Given the description of an element on the screen output the (x, y) to click on. 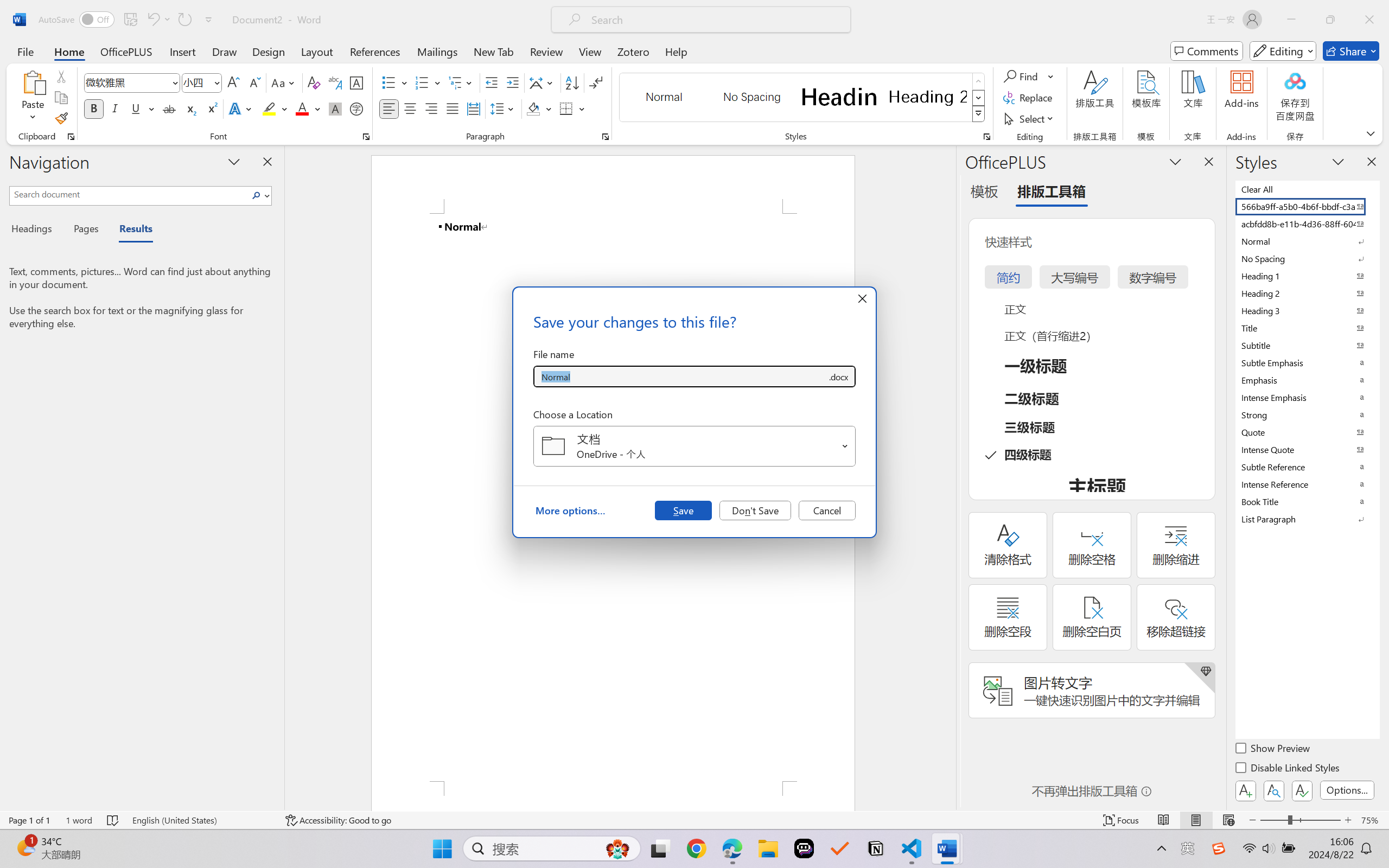
Results (130, 229)
Quick Access Toolbar (127, 19)
Font Color (308, 108)
Center (409, 108)
Bullets (395, 82)
Spelling and Grammar Check No Errors (113, 819)
Text Effects and Typography (241, 108)
Class: NetUIButton (1301, 790)
Search (259, 195)
New Tab (493, 51)
